Given the description of an element on the screen output the (x, y) to click on. 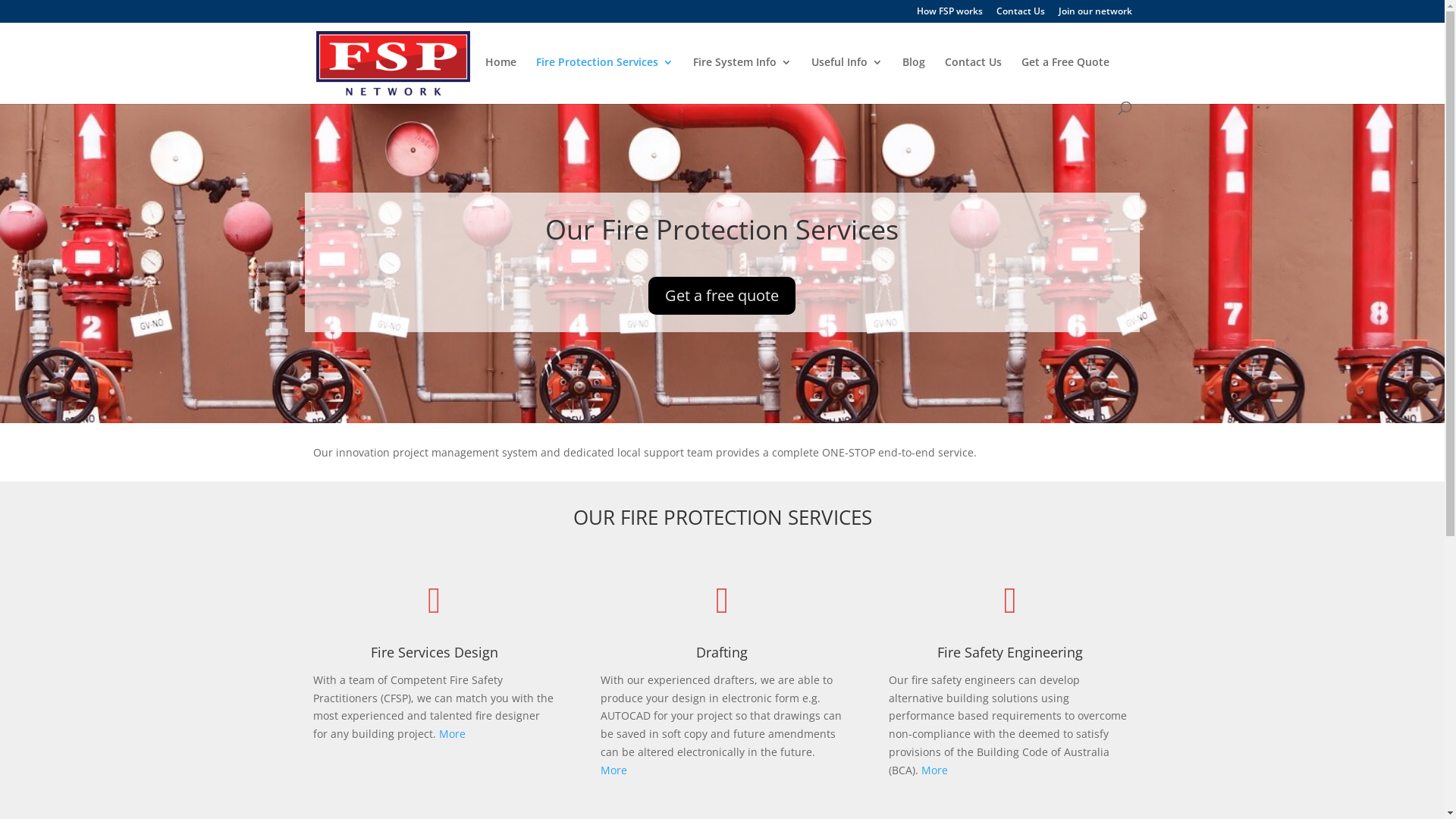
Useful Info Element type: text (846, 78)
Get a Free Quote Element type: text (1064, 78)
Join our network Element type: text (1095, 14)
Blog Element type: text (913, 78)
Contact Us Element type: text (1020, 14)
How FSP works Element type: text (949, 14)
Fire System Info Element type: text (742, 78)
Fire Protection Services Element type: text (603, 78)
More Element type: text (451, 733)
More Element type: text (613, 769)
Home Element type: text (500, 78)
More Element type: text (934, 769)
Get a free quote Element type: text (721, 295)
Contact Us Element type: text (972, 78)
